Given the description of an element on the screen output the (x, y) to click on. 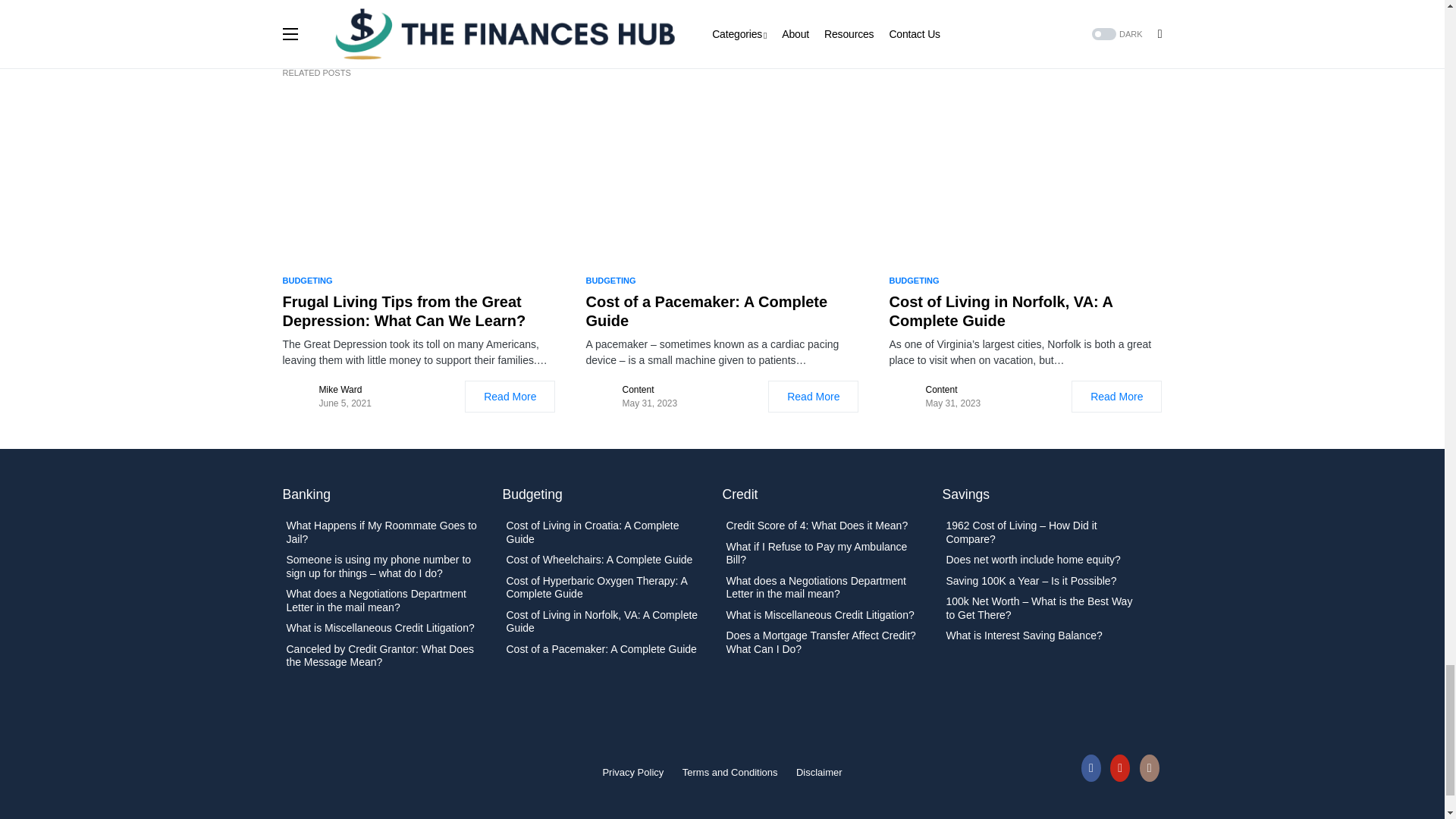
Gravatar for Content (600, 396)
Gravatar for Content (903, 396)
Gravatar for Mike Ward (297, 396)
